Given the description of an element on the screen output the (x, y) to click on. 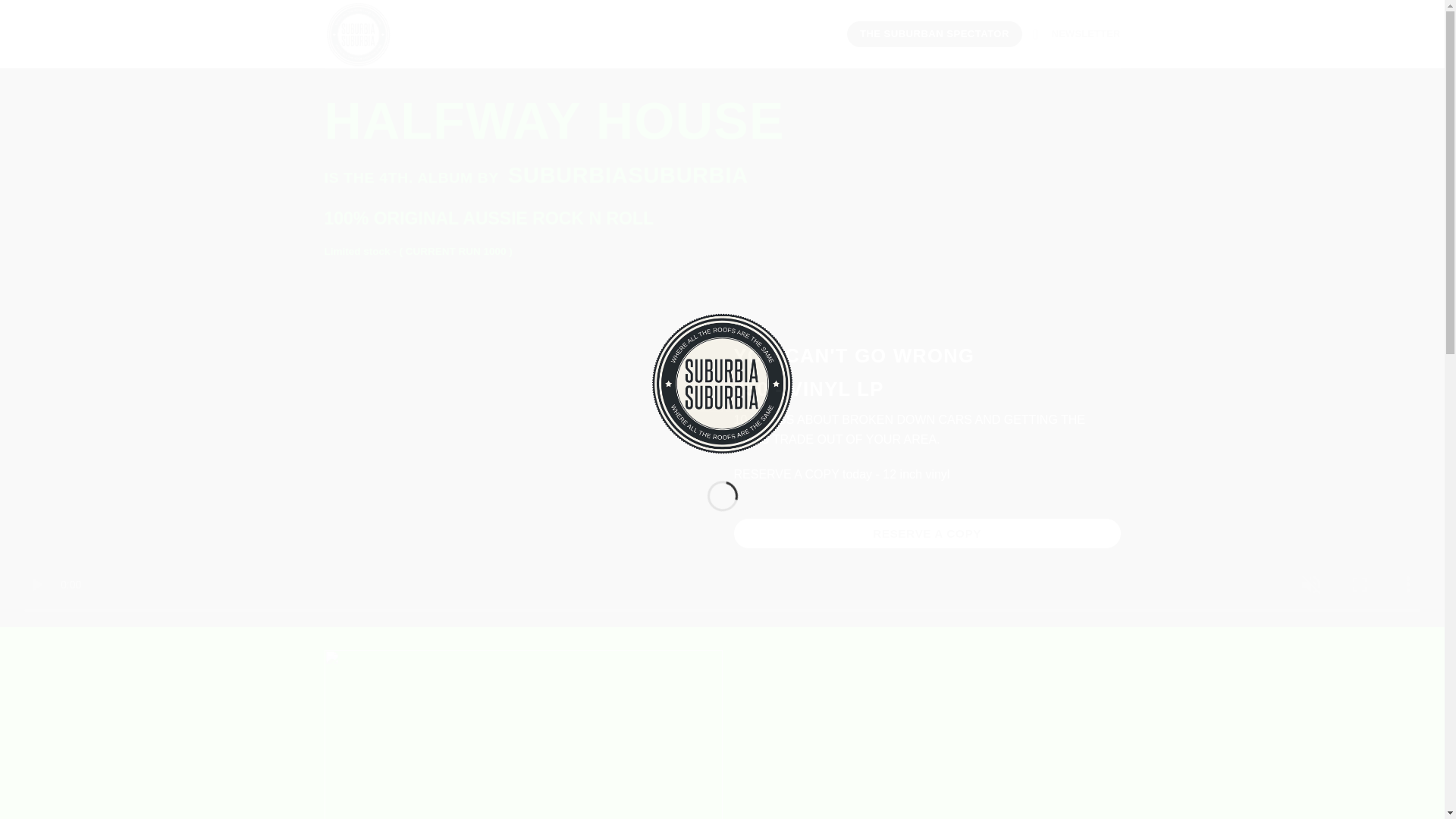
THE SUBURBAN SPECTATOR (934, 33)
NEWSLETTER (1076, 33)
RESERVE A COPY (927, 532)
Sign up for Newsletter (1076, 33)
